Given the description of an element on the screen output the (x, y) to click on. 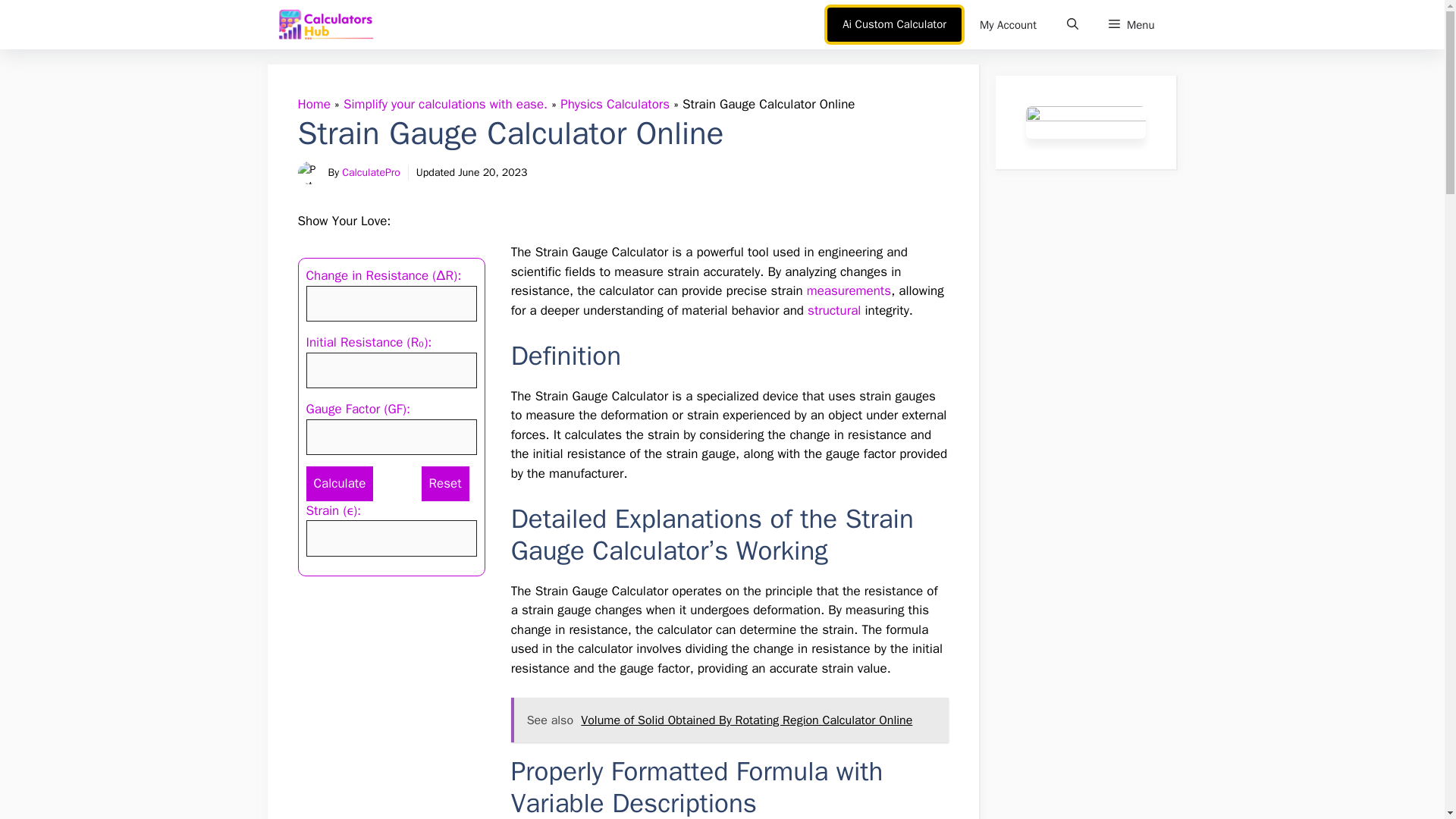
Ai Custom Calculator (893, 24)
measurements (848, 290)
Menu (1131, 23)
Reset (445, 483)
Calculate (339, 483)
Simplify your calculations with ease. (445, 104)
Home (313, 104)
Physics Calculators (614, 104)
CalculatePro (371, 172)
structural (834, 310)
My Account (1007, 23)
CalculatorsHub (326, 24)
